Given the description of an element on the screen output the (x, y) to click on. 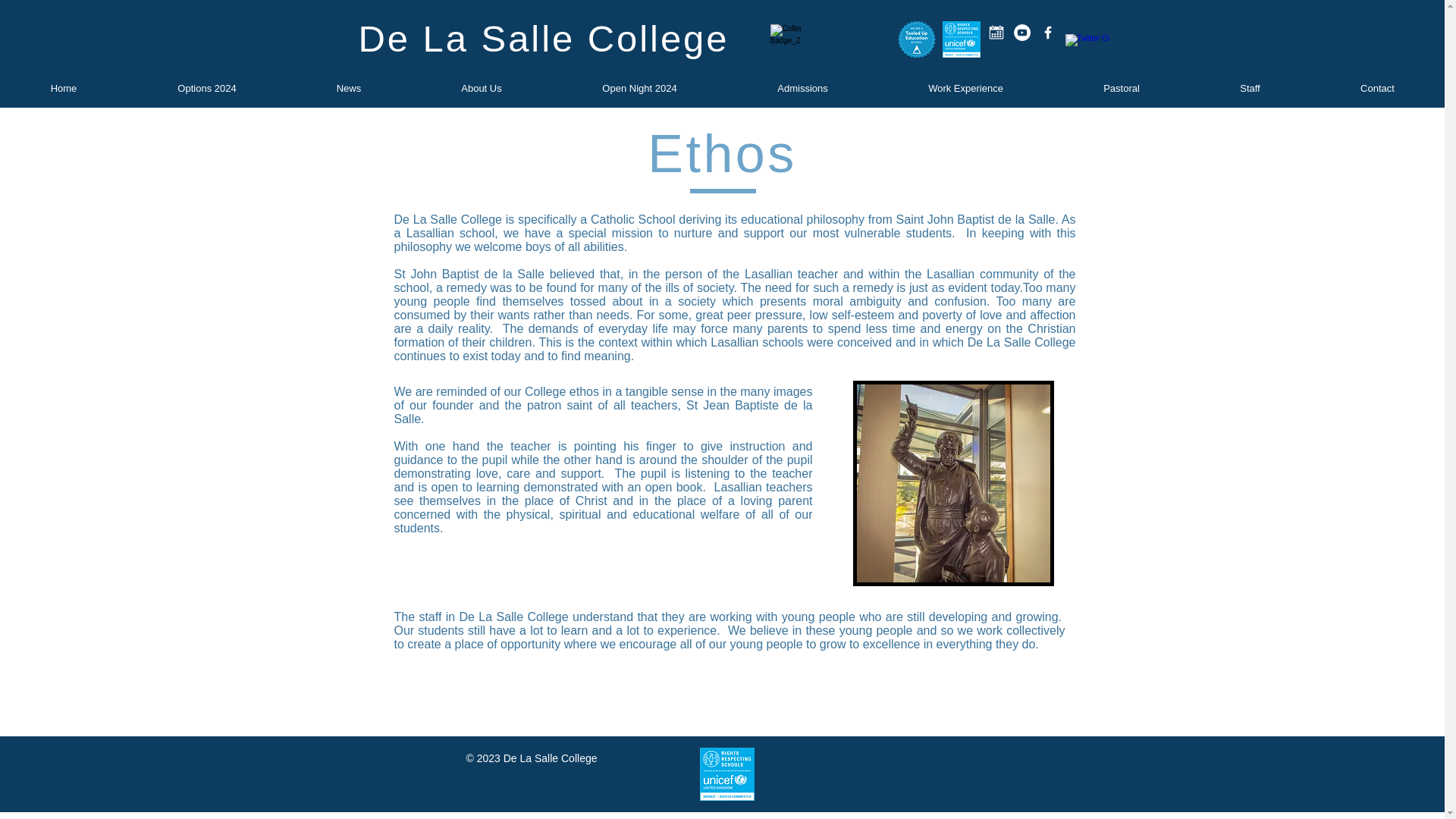
Home (64, 88)
Work Experience (964, 88)
Options 2024 (207, 88)
Open Night 2024 (638, 88)
De La Salle College (543, 38)
Admissions (801, 88)
